Given the description of an element on the screen output the (x, y) to click on. 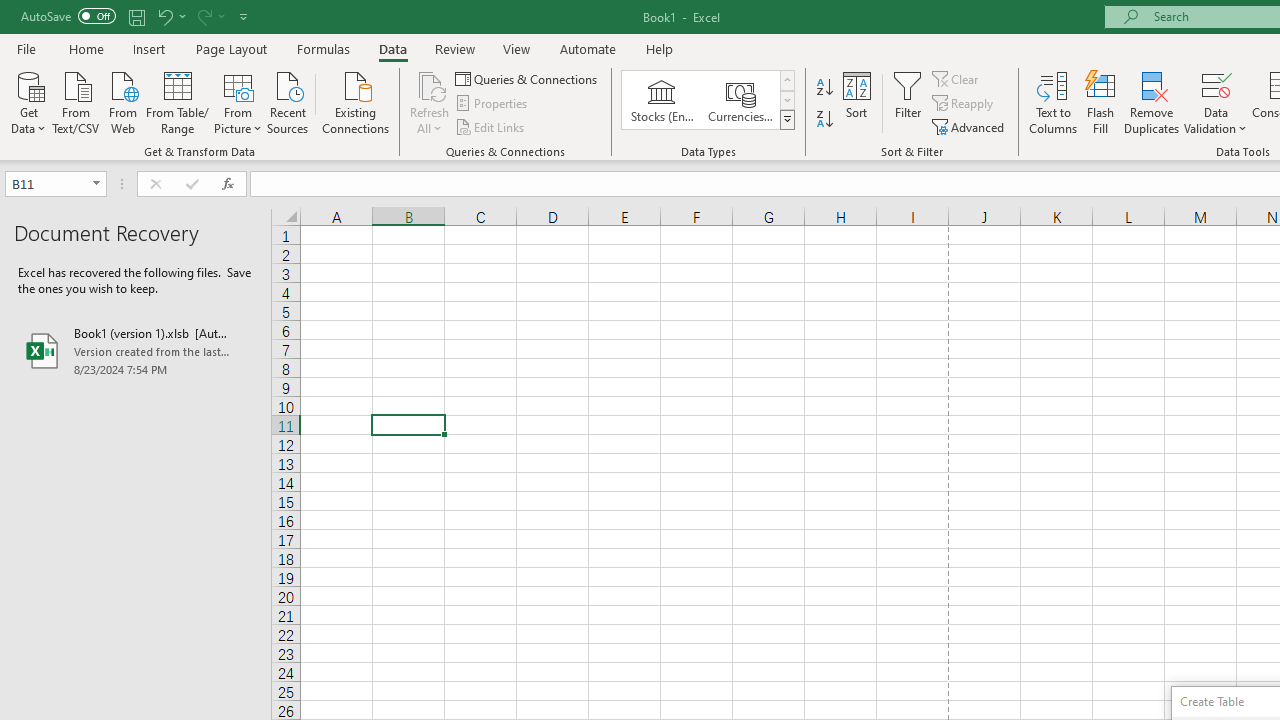
From Picture (238, 101)
Advanced... (970, 126)
Edit Links (491, 126)
Flash Fill (1101, 102)
From Text/CSV (75, 101)
From Web (122, 101)
AutomationID: ConvertToLinkedEntity (708, 99)
Sort... (856, 102)
